Given the description of an element on the screen output the (x, y) to click on. 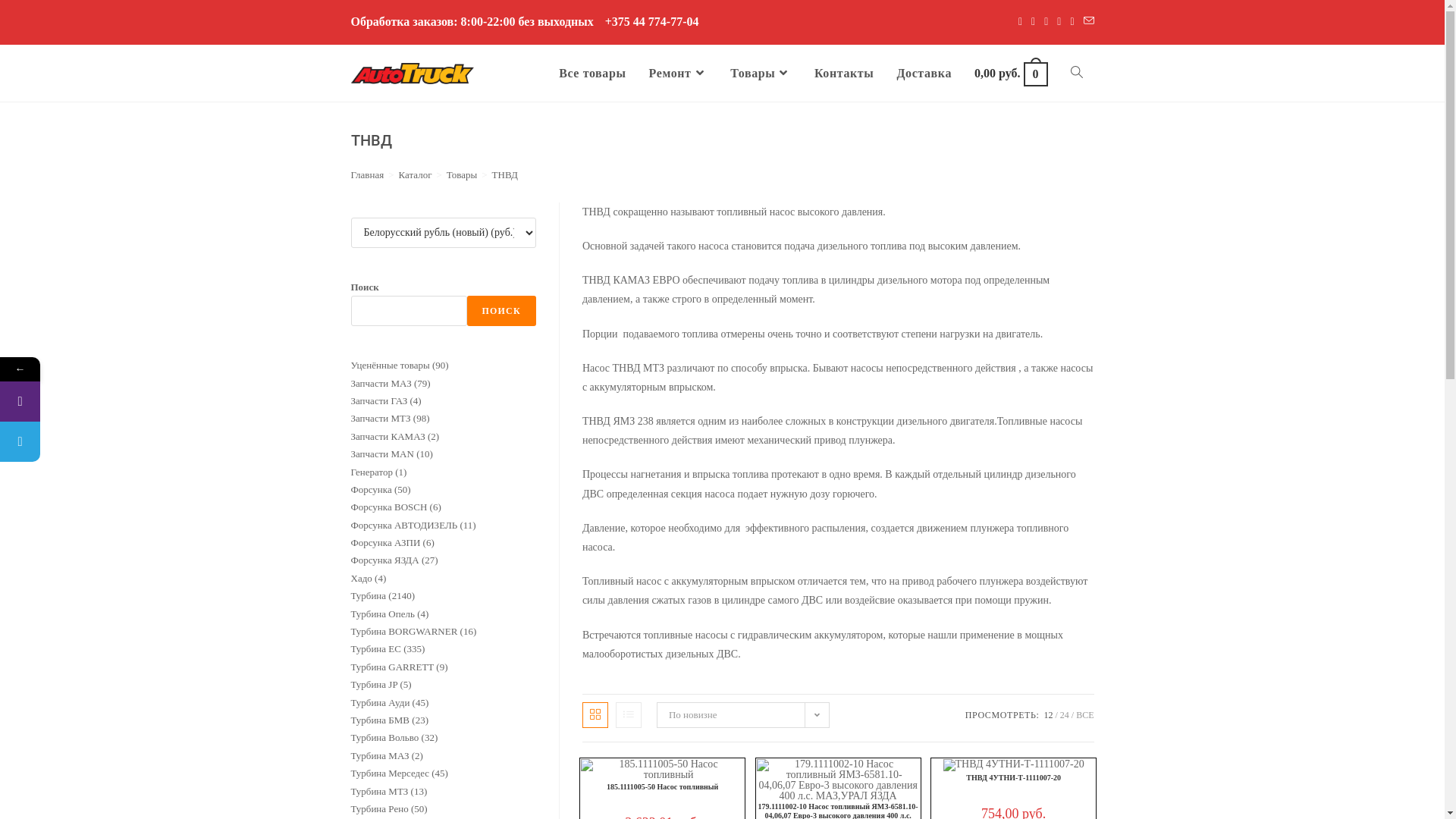
+375 44 774-77-04 Element type: text (652, 22)
12 Element type: text (1047, 714)
Telegram Element type: text (92, 441)
Viber Element type: text (92, 401)
24 Element type: text (1064, 714)
